Given the description of an element on the screen output the (x, y) to click on. 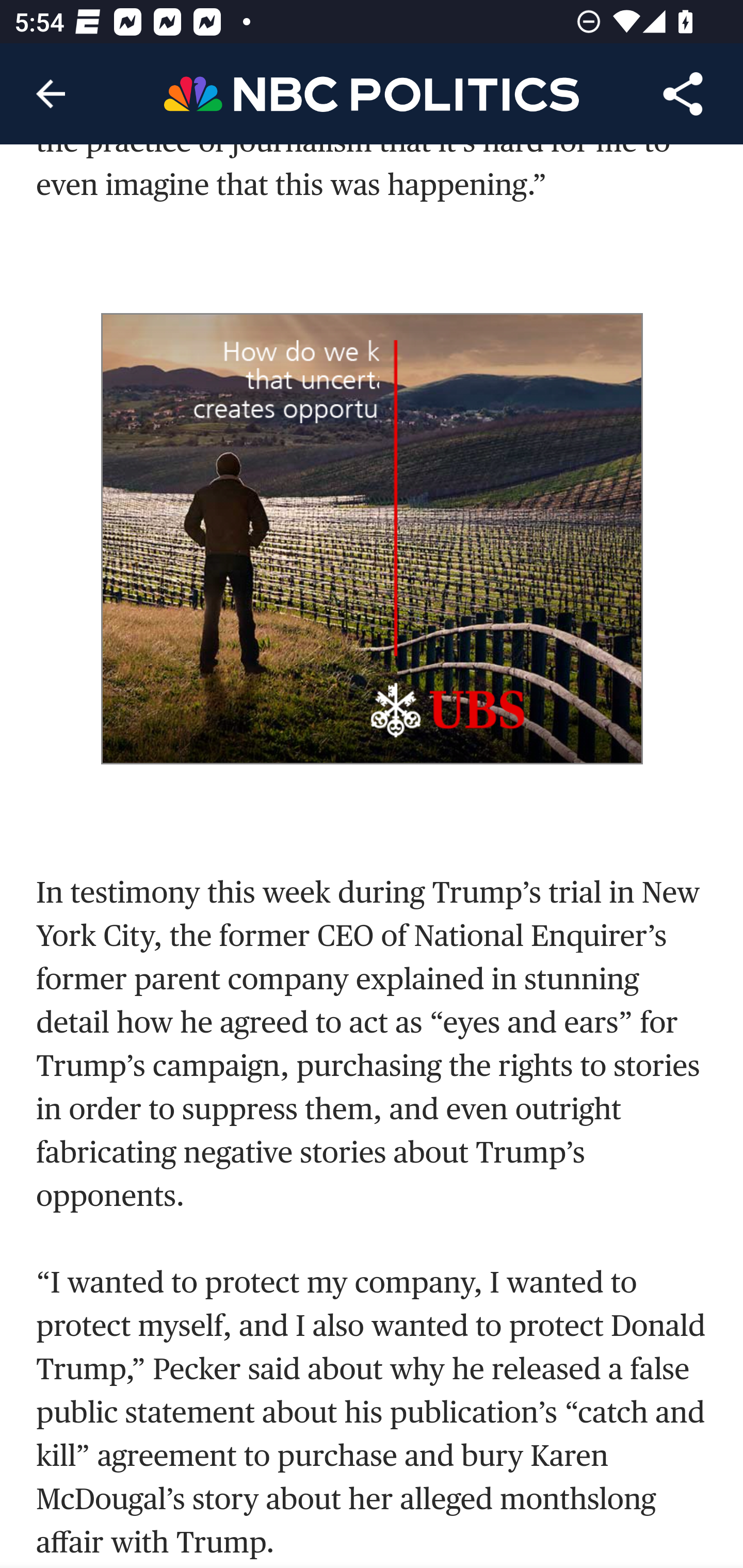
Navigate up (50, 93)
Share Article, button (683, 94)
Header, NBC Politics (371, 93)
